Given the description of an element on the screen output the (x, y) to click on. 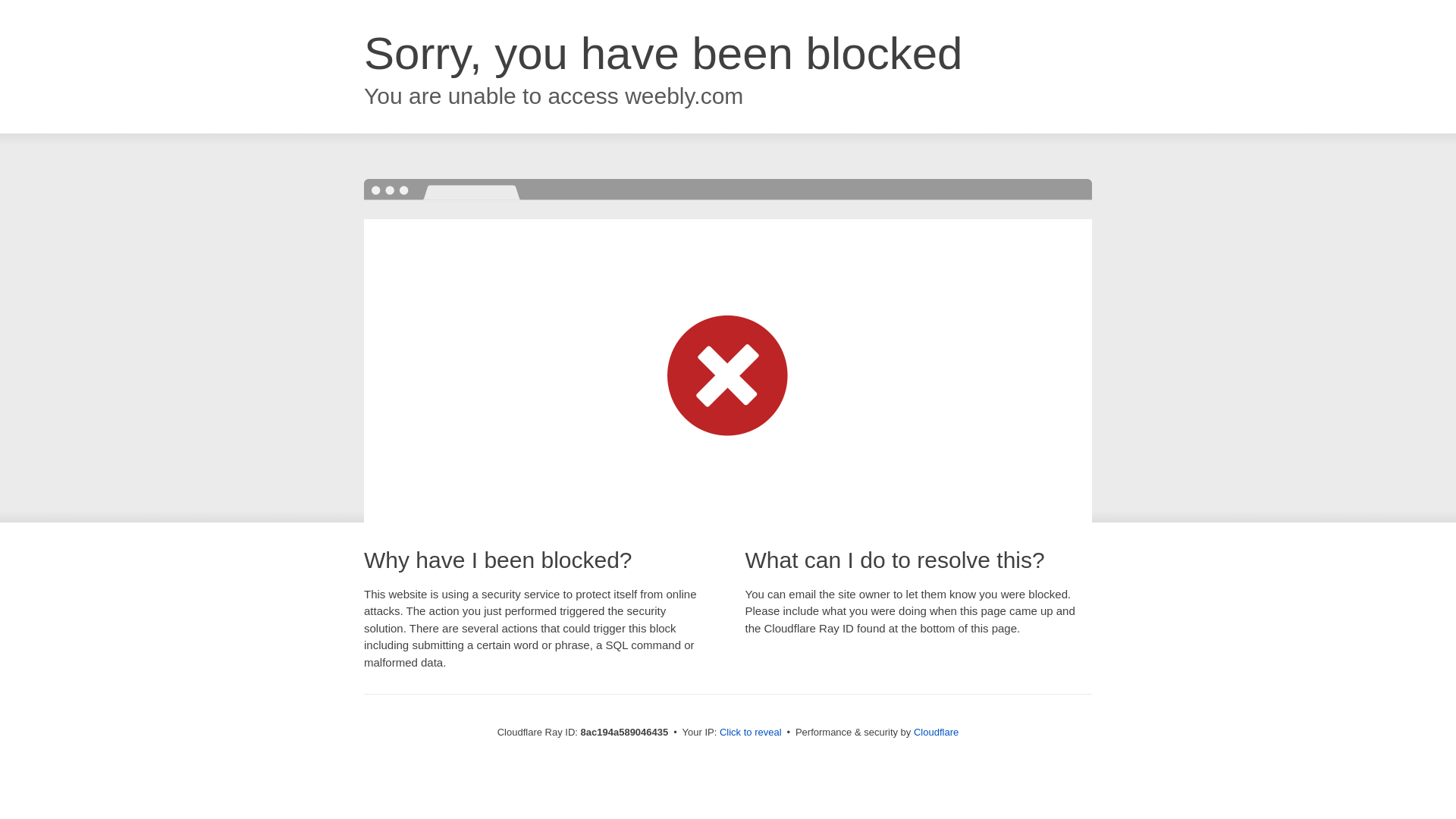
Click to reveal (750, 732)
Cloudflare (936, 731)
